Given the description of an element on the screen output the (x, y) to click on. 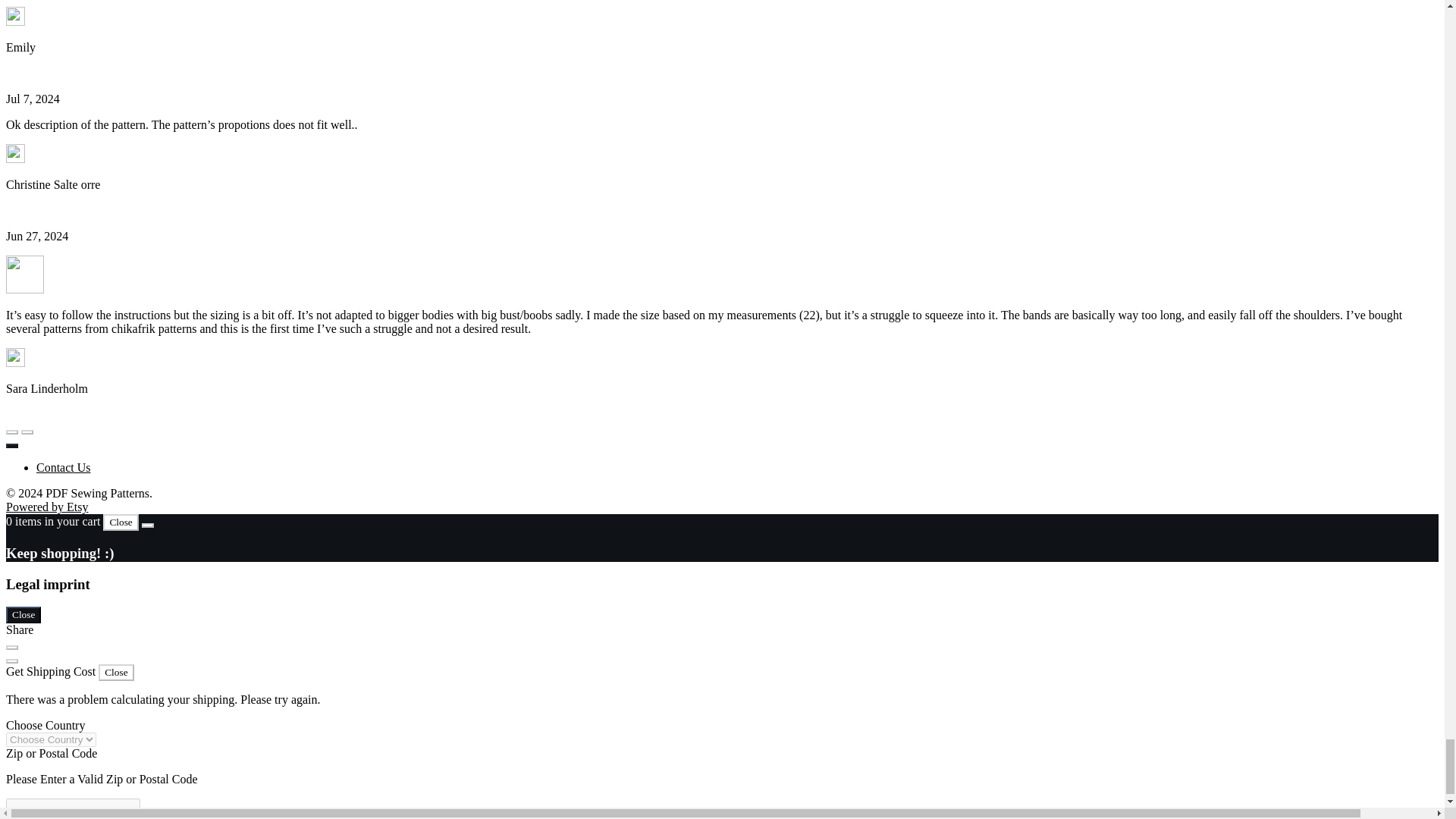
Contact Us (63, 467)
Close (116, 672)
Close (120, 522)
Powered by Etsy (46, 506)
Close (22, 614)
